Given the description of an element on the screen output the (x, y) to click on. 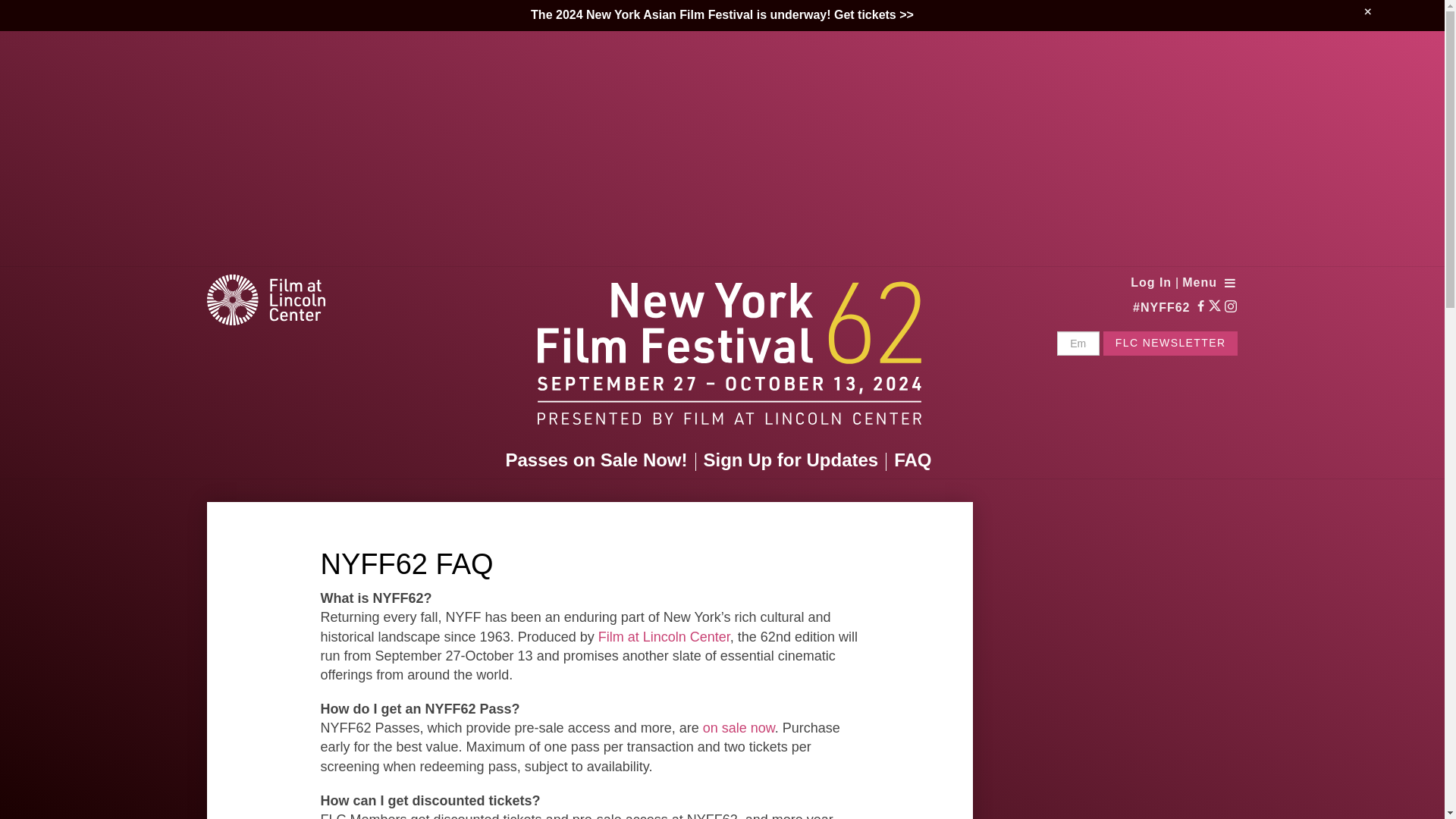
on sale now (738, 727)
Film at Lincoln Center (664, 636)
FLC NEWSLETTER (1171, 343)
FAQ (916, 459)
3rd party ad content (1120, 766)
Menu (1209, 282)
Passes on Sale Now! (599, 459)
Sign Up for Updates (794, 459)
Log In (1151, 282)
